Given the description of an element on the screen output the (x, y) to click on. 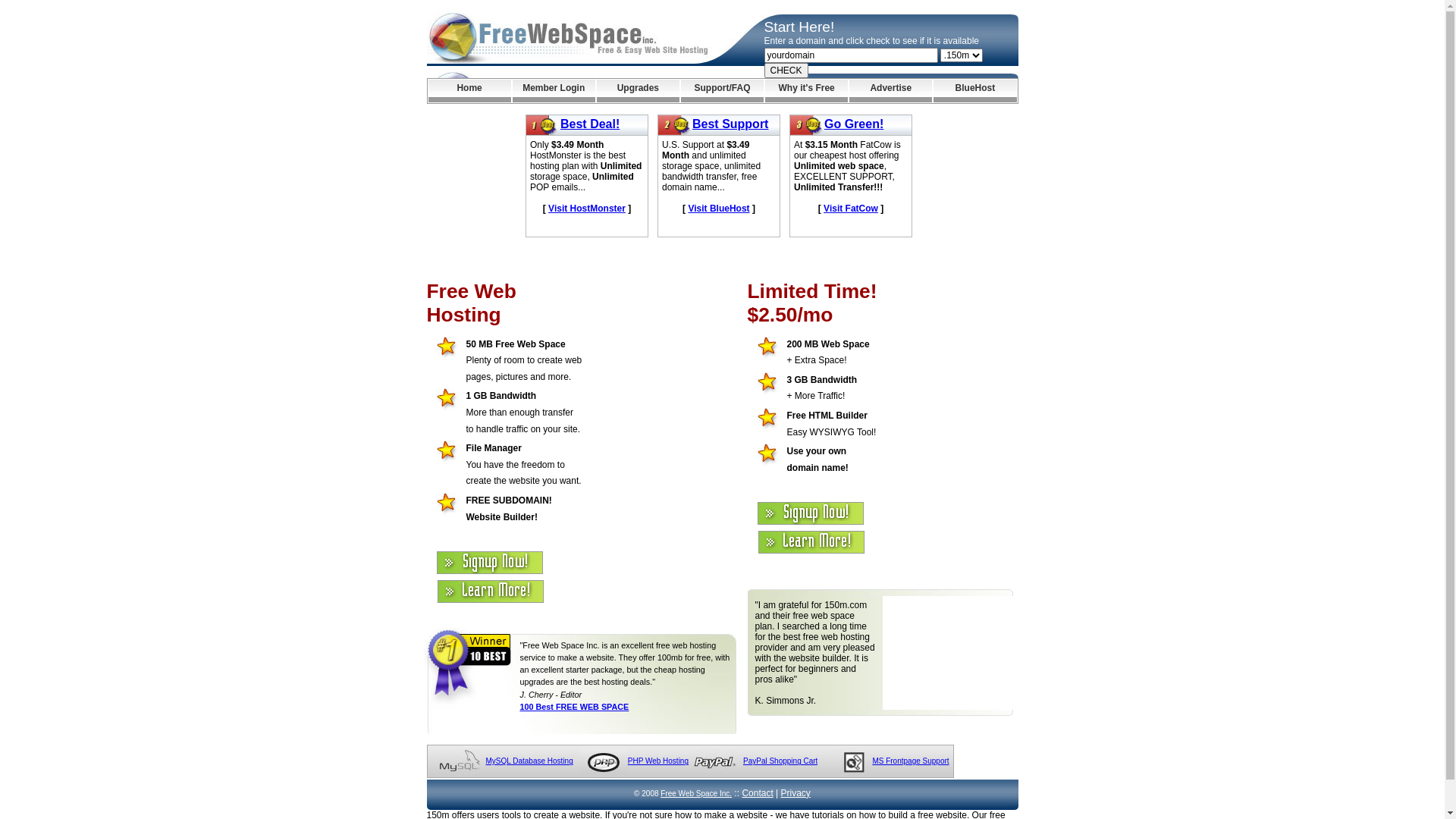
Privacy Element type: text (795, 792)
Member Login Element type: text (553, 90)
Free Web Space Inc. Element type: text (695, 793)
BlueHost Element type: text (974, 90)
MySQL Database Hosting Element type: text (528, 760)
Home Element type: text (468, 90)
Contact Element type: text (756, 792)
100 Best FREE WEB SPACE Element type: text (574, 706)
Why it's Free Element type: text (806, 90)
CHECK Element type: text (786, 70)
MS Frontpage Support Element type: text (910, 760)
PHP Web Hosting Element type: text (657, 760)
PayPal Shopping Cart Element type: text (780, 760)
Upgrades Element type: text (637, 90)
Support/FAQ Element type: text (721, 90)
Advertise Element type: text (890, 90)
